Given the description of an element on the screen output the (x, y) to click on. 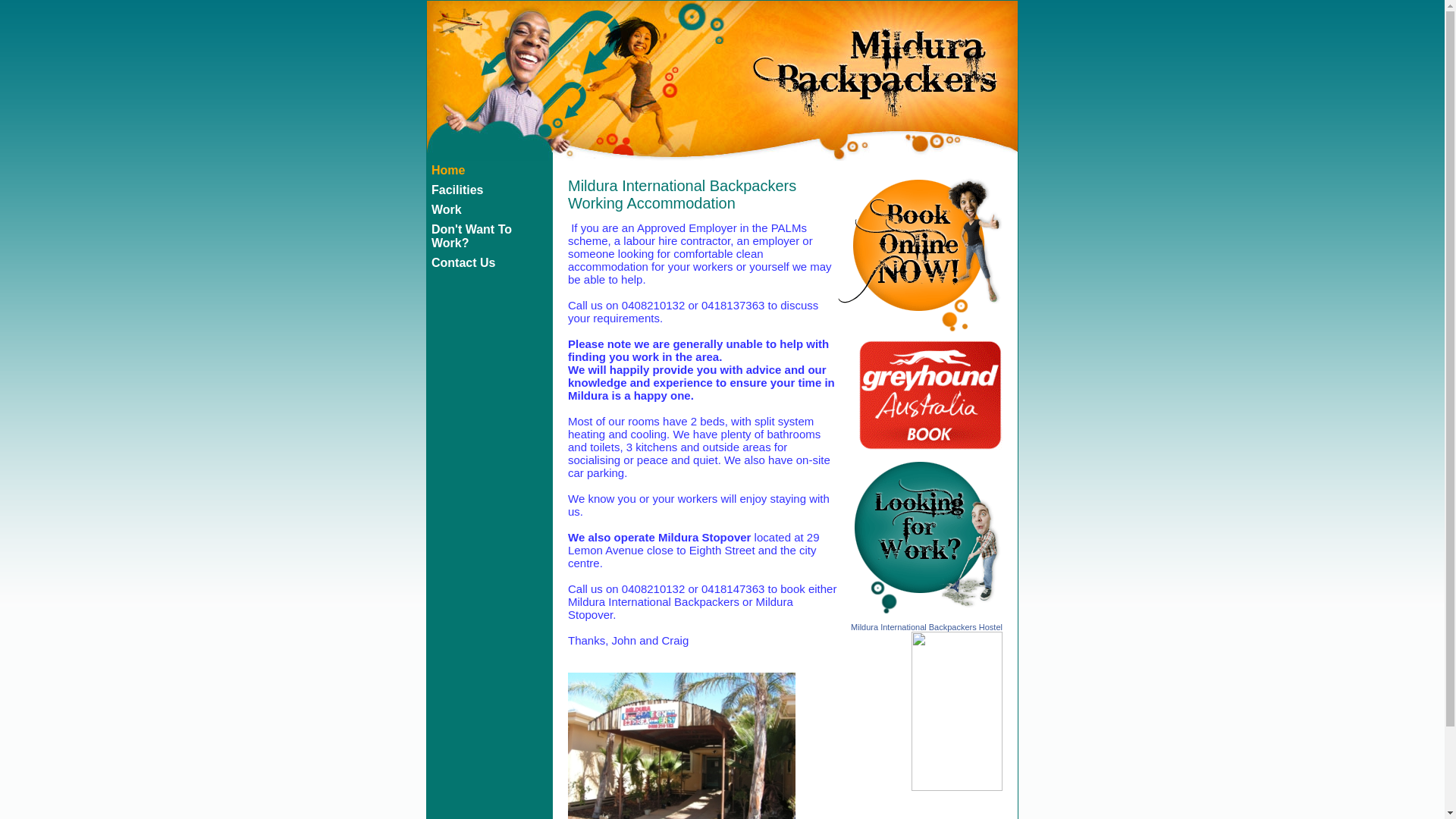
Contact Us Element type: text (488, 263)
Work Element type: text (488, 209)
Don't Want To Work? Element type: text (488, 236)
Facilities Element type: text (488, 190)
Home Element type: text (488, 170)
Mildura International Backpackers Hostel Element type: text (926, 626)
